Given the description of an element on the screen output the (x, y) to click on. 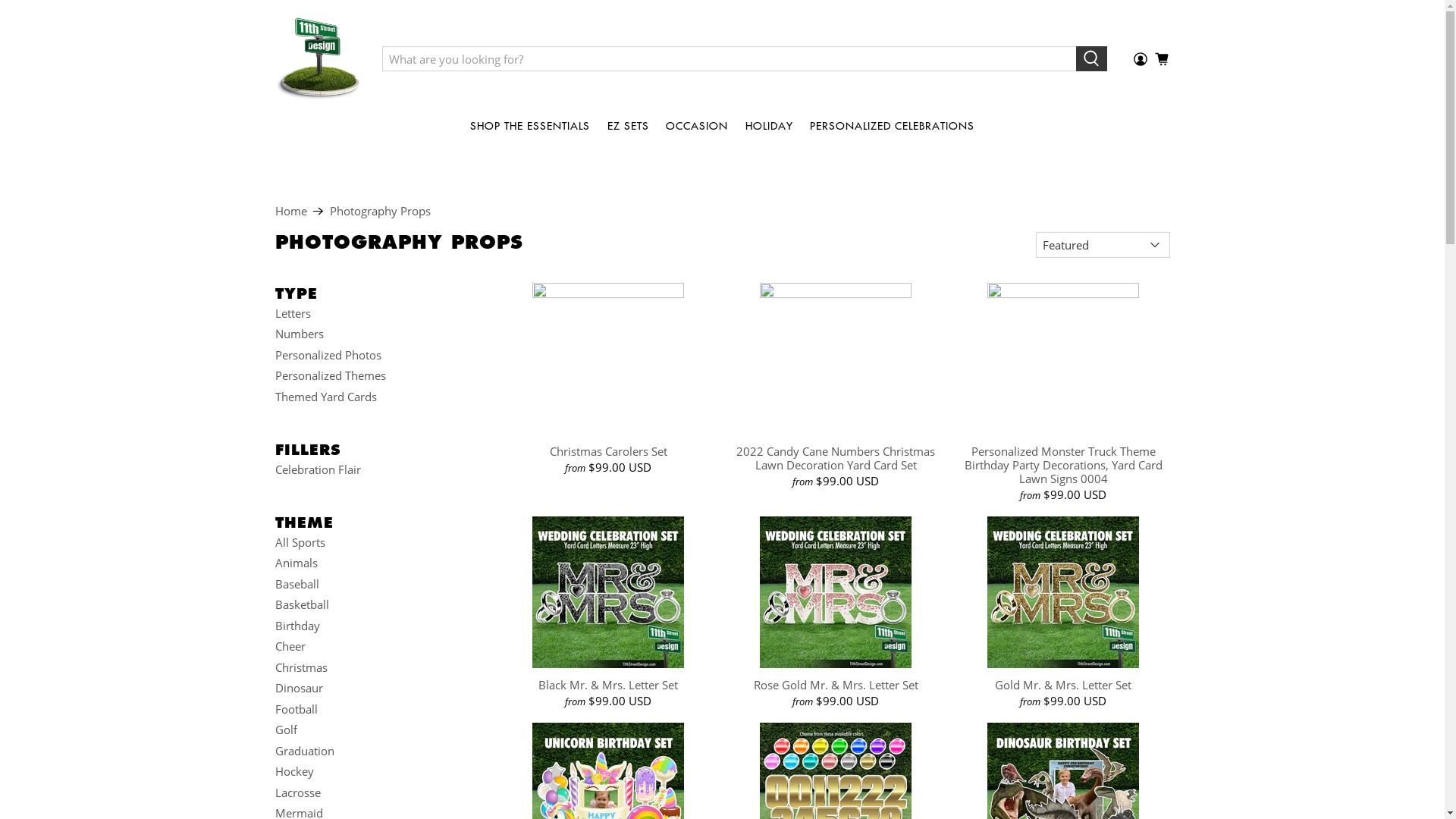
CNY Element type: text (1137, 49)
DOP Element type: text (1137, 231)
HKD Element type: text (1137, 595)
FKP Element type: text (1137, 413)
OCCASION Element type: text (697, 125)
ETB Element type: text (1137, 322)
ISK Element type: text (1137, 777)
SHOP THE ESSENTIALS Element type: text (530, 125)
EZ SETS Element type: text (627, 125)
GBP Element type: text (1137, 443)
PERSONALIZED CELEBRATIONS Element type: text (892, 125)
ILS Element type: text (1137, 716)
Black Mr. & Mrs. Letter Set Element type: text (608, 683)
HUF Element type: text (1137, 655)
EGP Element type: text (1137, 291)
CHF Element type: text (1137, 18)
DKK Element type: text (1137, 200)
FJD Element type: text (1137, 382)
Rose Gold Mr. & Mrs. Letter Set Element type: text (835, 683)
GTQ Element type: text (1137, 534)
Photography Props Element type: text (379, 210)
DJF Element type: text (1137, 170)
Christmas Carolers Set Element type: text (608, 450)
INR Element type: text (1137, 746)
CRC Element type: text (1137, 79)
IDR Element type: text (1137, 686)
CVE Element type: text (1137, 109)
HNL Element type: text (1137, 625)
GNF Element type: text (1137, 504)
HOLIDAY Element type: text (768, 125)
Home Element type: text (290, 210)
11th Street Design Element type: hover (317, 58)
CZK Element type: text (1137, 140)
DZD Element type: text (1137, 261)
EUR Element type: text (1137, 352)
GYD Element type: text (1137, 564)
GMD Element type: text (1137, 473)
Gold Mr. & Mrs. Letter Set Element type: text (1063, 683)
